Given the description of an element on the screen output the (x, y) to click on. 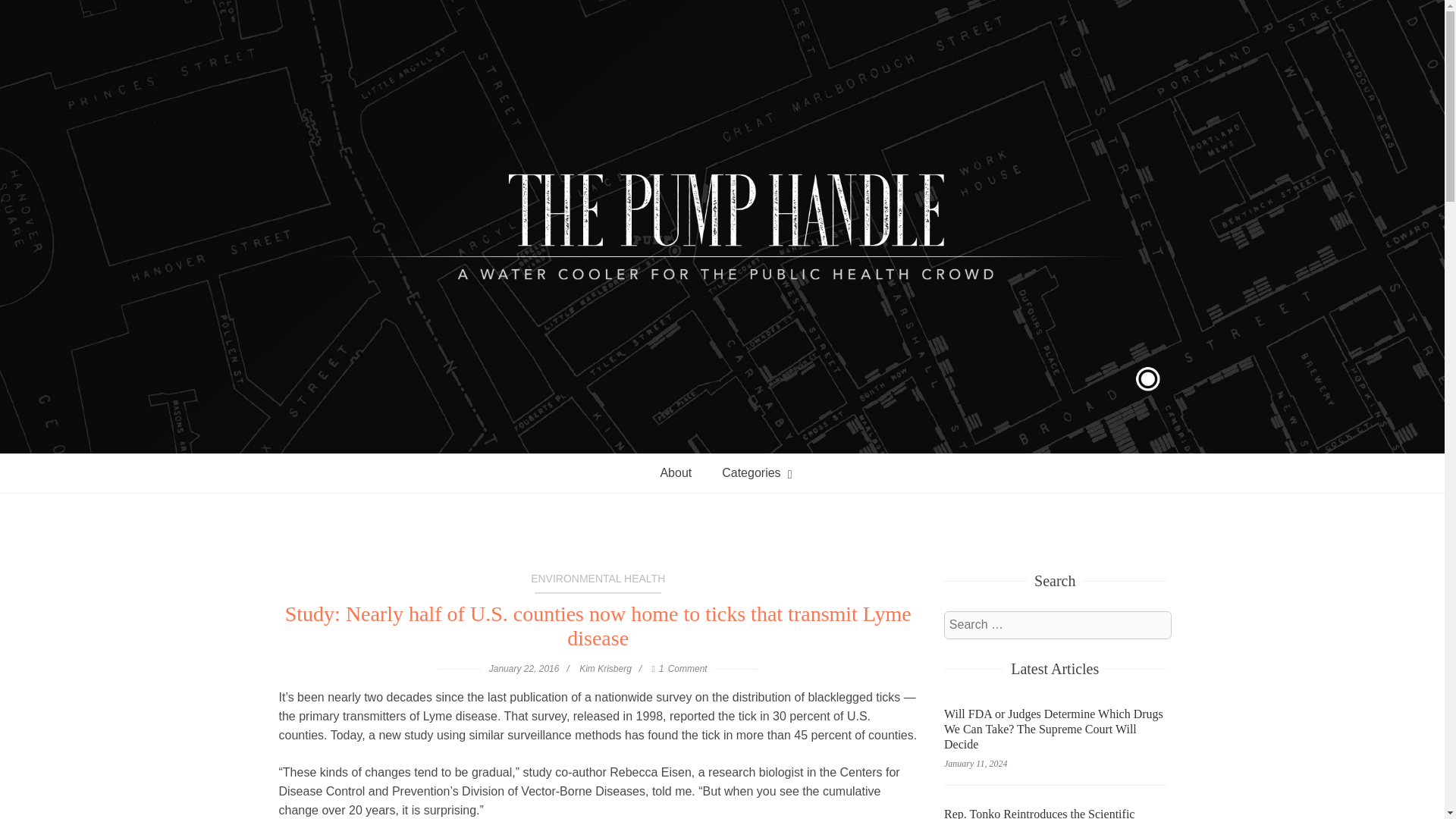
ENVIRONMENTAL HEALTH (598, 581)
Search for: (1057, 624)
About (722, 473)
